Given the description of an element on the screen output the (x, y) to click on. 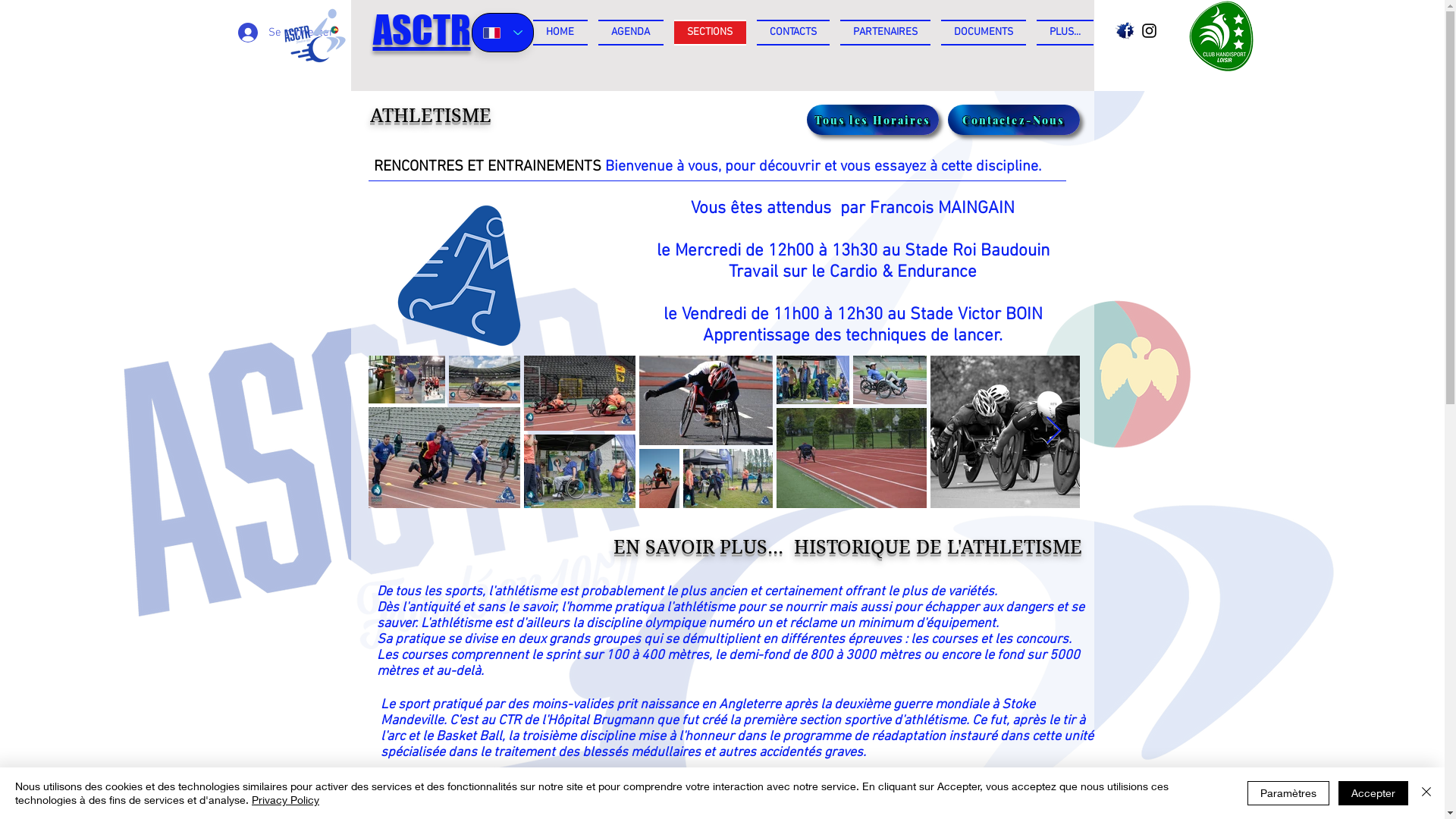
SECTIONS Element type: text (709, 32)
Contactez-Nous Element type: text (1013, 119)
Tous les Horaires Element type: text (872, 119)
Logo Element type: hover (313, 35)
Se connecter Element type: text (262, 32)
AGENDA Element type: text (630, 32)
Privacy Policy Element type: text (285, 799)
CONTACTS Element type: text (792, 32)
HOME Element type: text (562, 32)
Accepter Element type: text (1373, 793)
PARTENAIRES Element type: text (884, 32)
PLUS... Element type: text (1062, 32)
ASCTR Element type: text (421, 35)
DOCUMENTS Element type: text (983, 32)
